Given the description of an element on the screen output the (x, y) to click on. 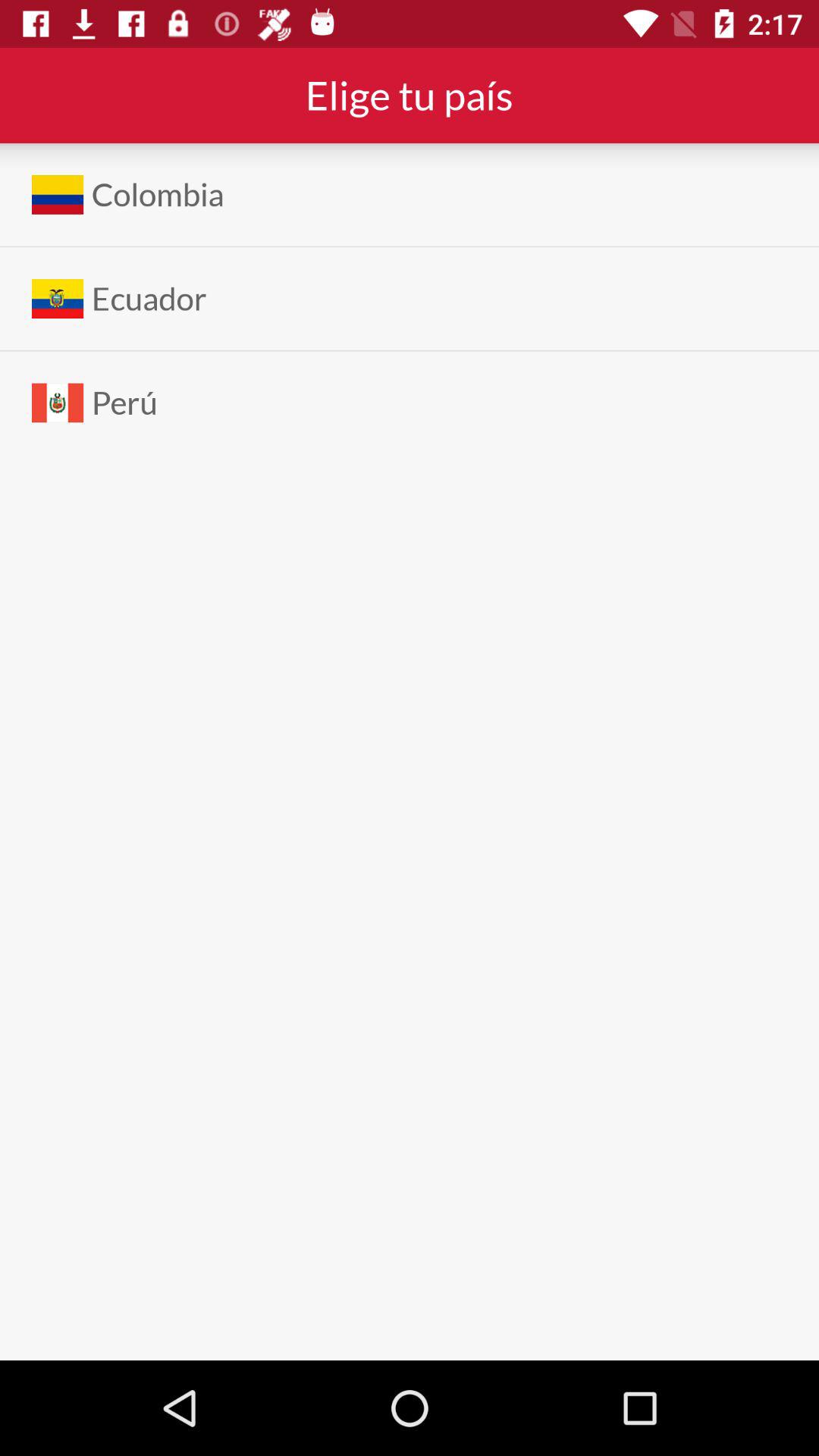
open colombia item (157, 194)
